Given the description of an element on the screen output the (x, y) to click on. 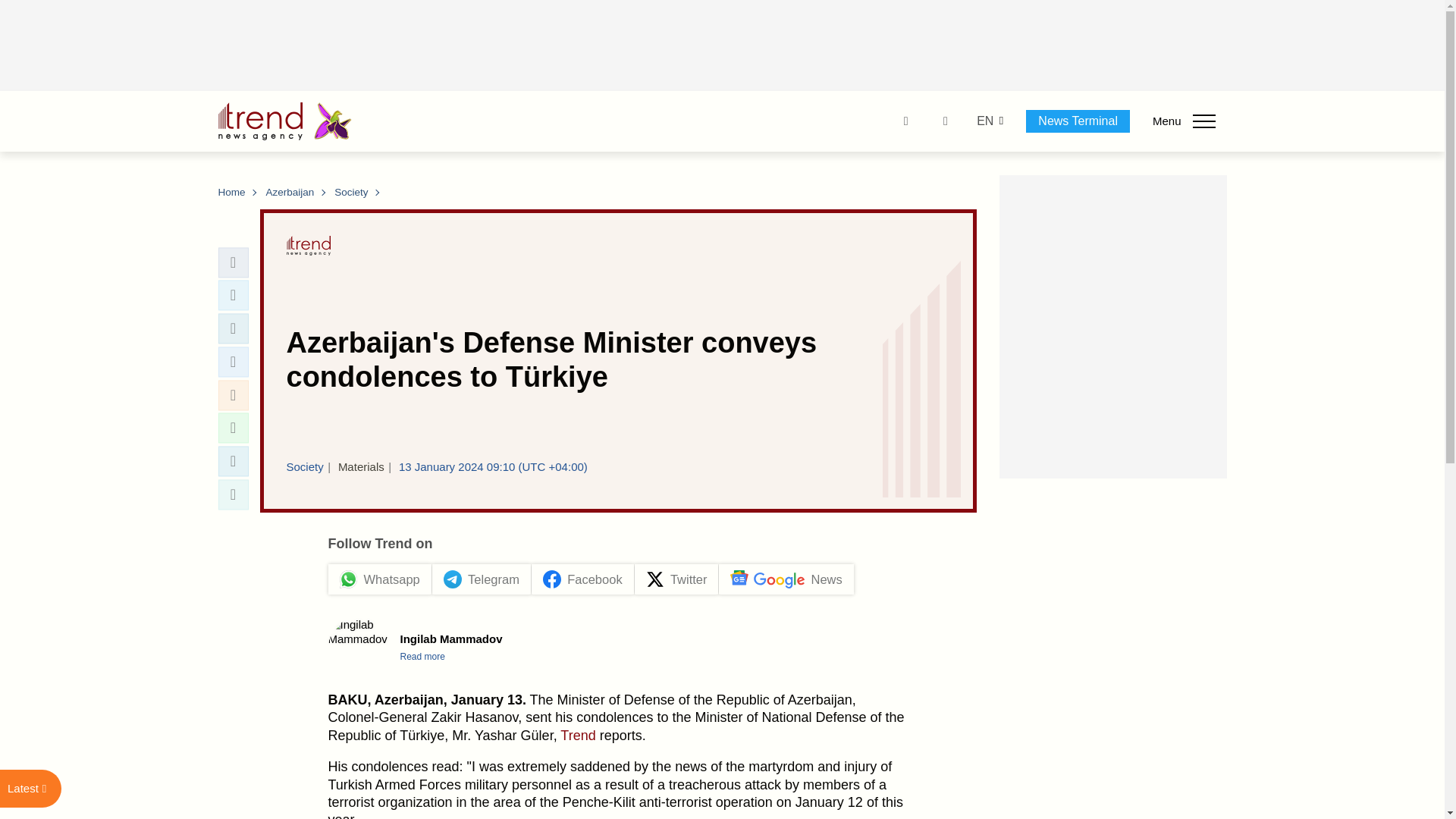
English (984, 121)
News Terminal (1077, 120)
EN (984, 121)
